Given the description of an element on the screen output the (x, y) to click on. 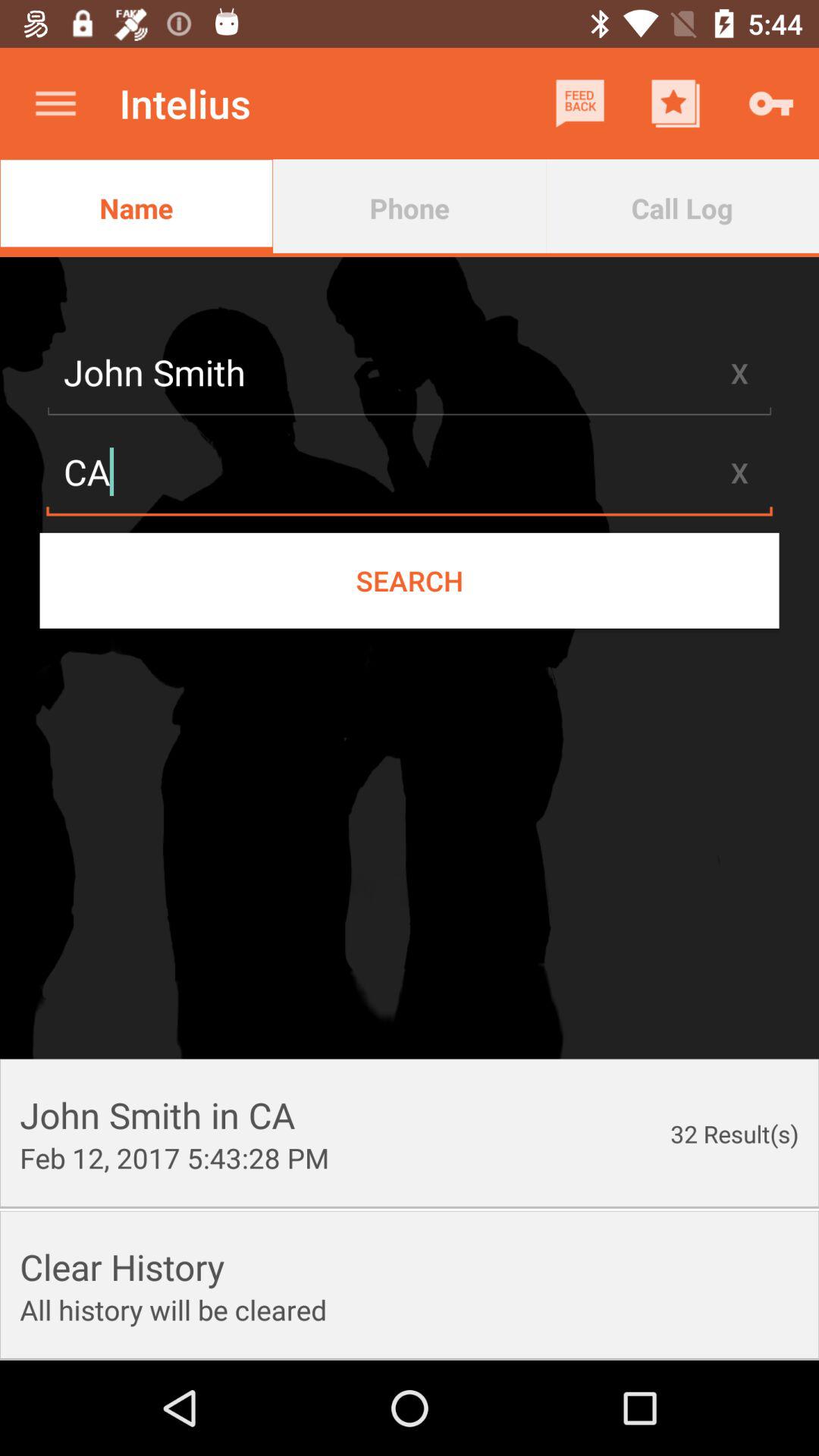
flip until the clear history app (121, 1266)
